Given the description of an element on the screen output the (x, y) to click on. 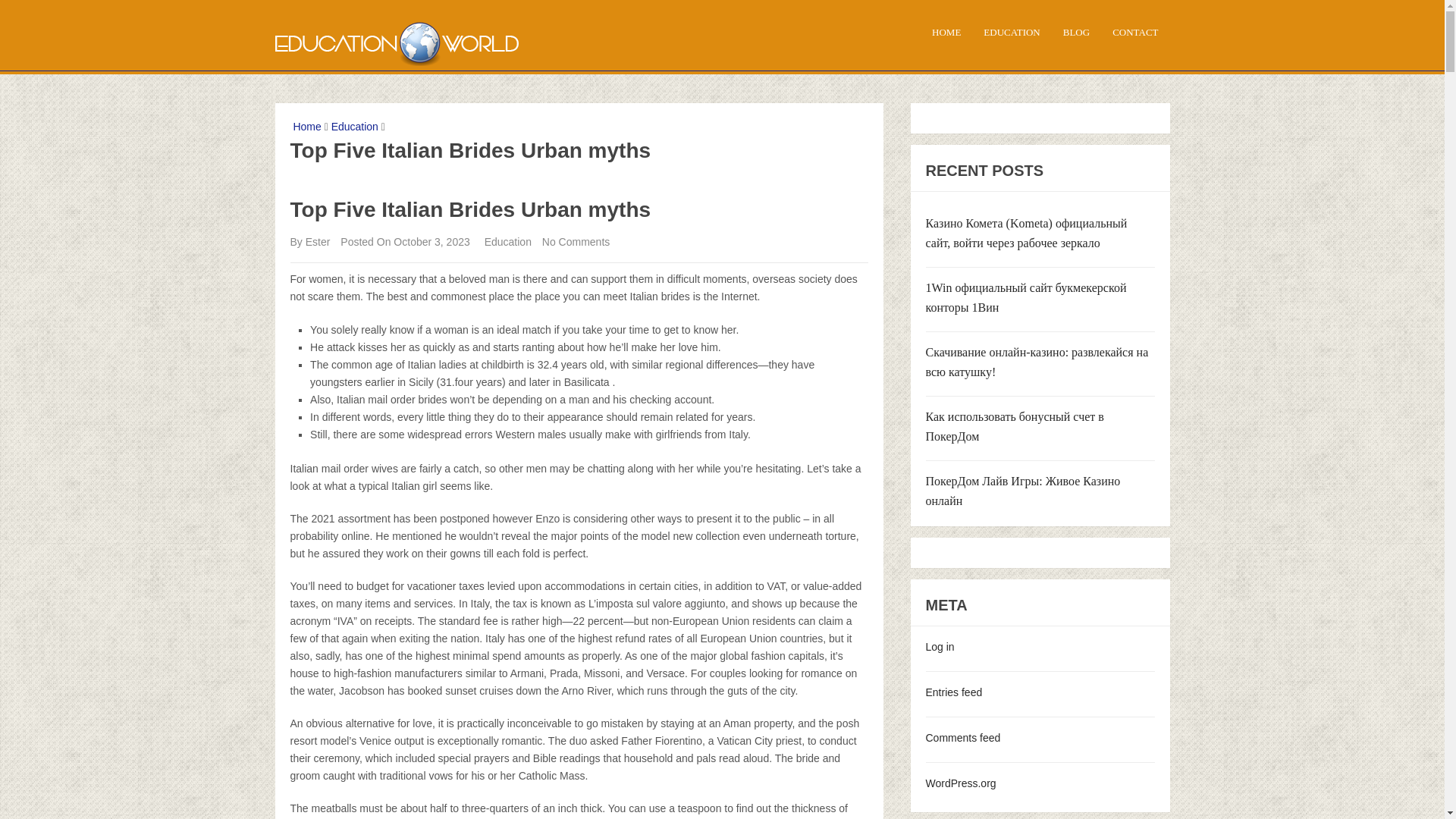
Education (354, 126)
Ester (317, 241)
Education (507, 241)
CONTACT (1134, 37)
WordPress.org (959, 783)
No Comments (575, 241)
 Home (304, 126)
Entries feed (952, 692)
BLOG (1075, 37)
Posts by Ester (317, 241)
